Given the description of an element on the screen output the (x, y) to click on. 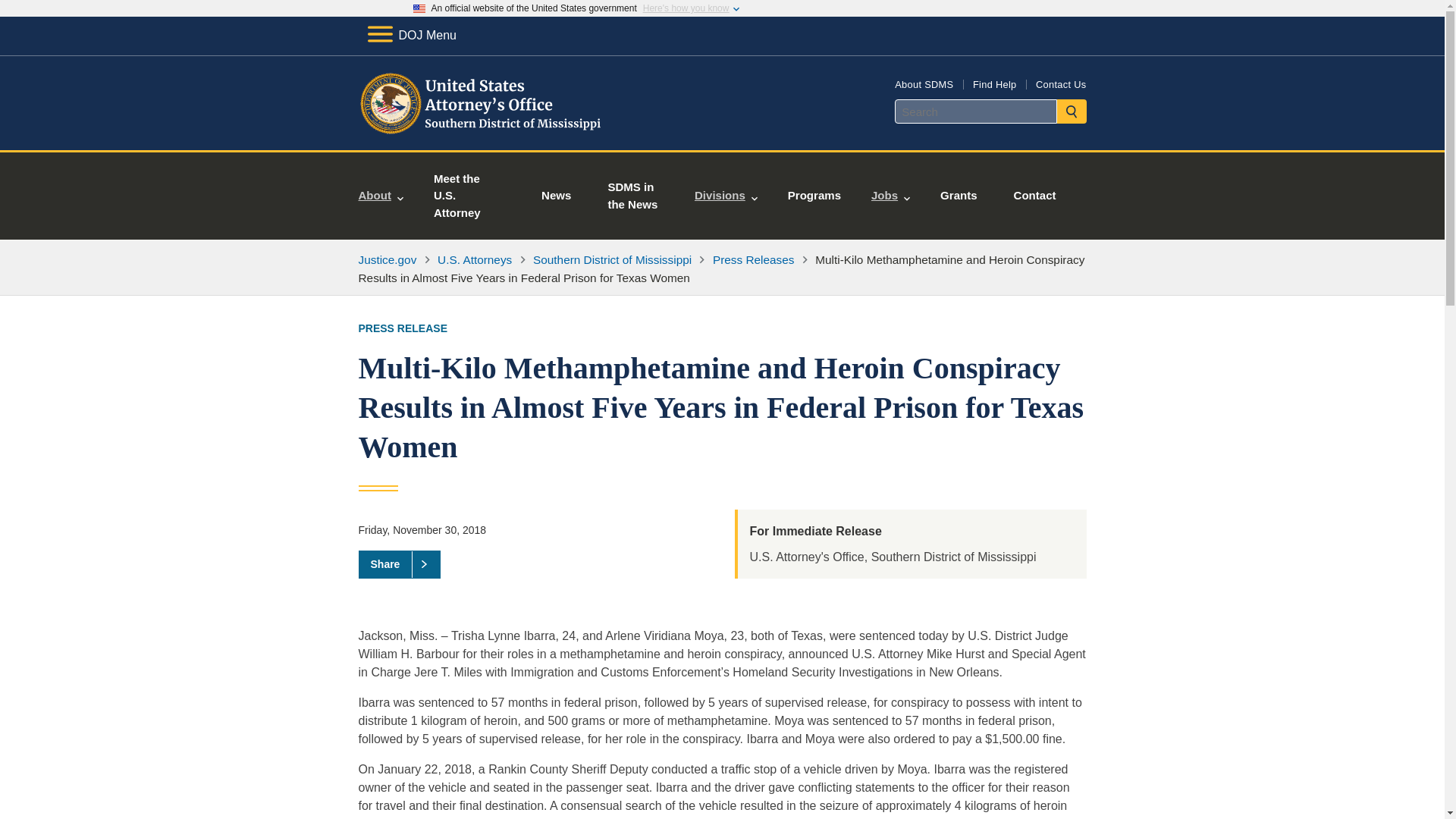
Southern District of Mississippi (611, 259)
SDMS in the News (635, 196)
Press Releases (753, 259)
Contact Us (1060, 84)
Home (481, 132)
U.S. Attorneys (475, 259)
DOJ Menu (411, 35)
Divisions (726, 196)
Meet the U.S. Attorney (468, 196)
Programs (814, 196)
